Given the description of an element on the screen output the (x, y) to click on. 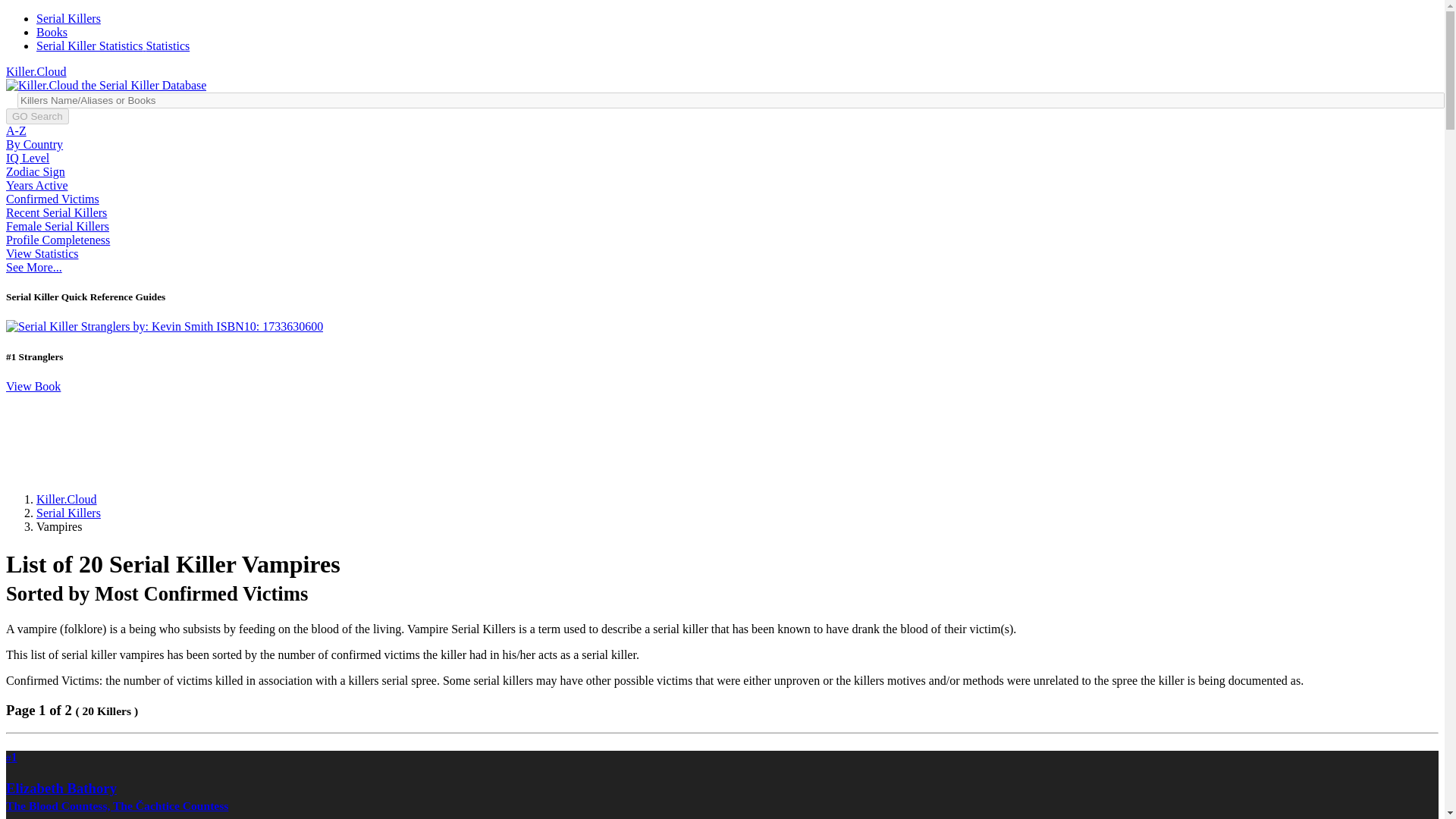
Serial Killer Statistics Statistics (112, 45)
Zodiac Sign (35, 171)
Serial Killers by Alphabetical Order (68, 18)
Recent Serial Killers (55, 212)
Serial Killer Stranglers by: Kevin Smith ISBN10: 1733630600 (164, 326)
IQ Level (27, 157)
Killer.Cloud the Serial Killer Database (35, 71)
View Book (33, 386)
Serial Killers by Astrological Sign (35, 171)
List of books written about serial killers (51, 31)
Serial Killers by Completeness of Profile (57, 239)
Serial Killers by Years Active (35, 185)
View All Serial Killer Statistics (41, 253)
Serial Killers (68, 512)
Books (51, 31)
